Given the description of an element on the screen output the (x, y) to click on. 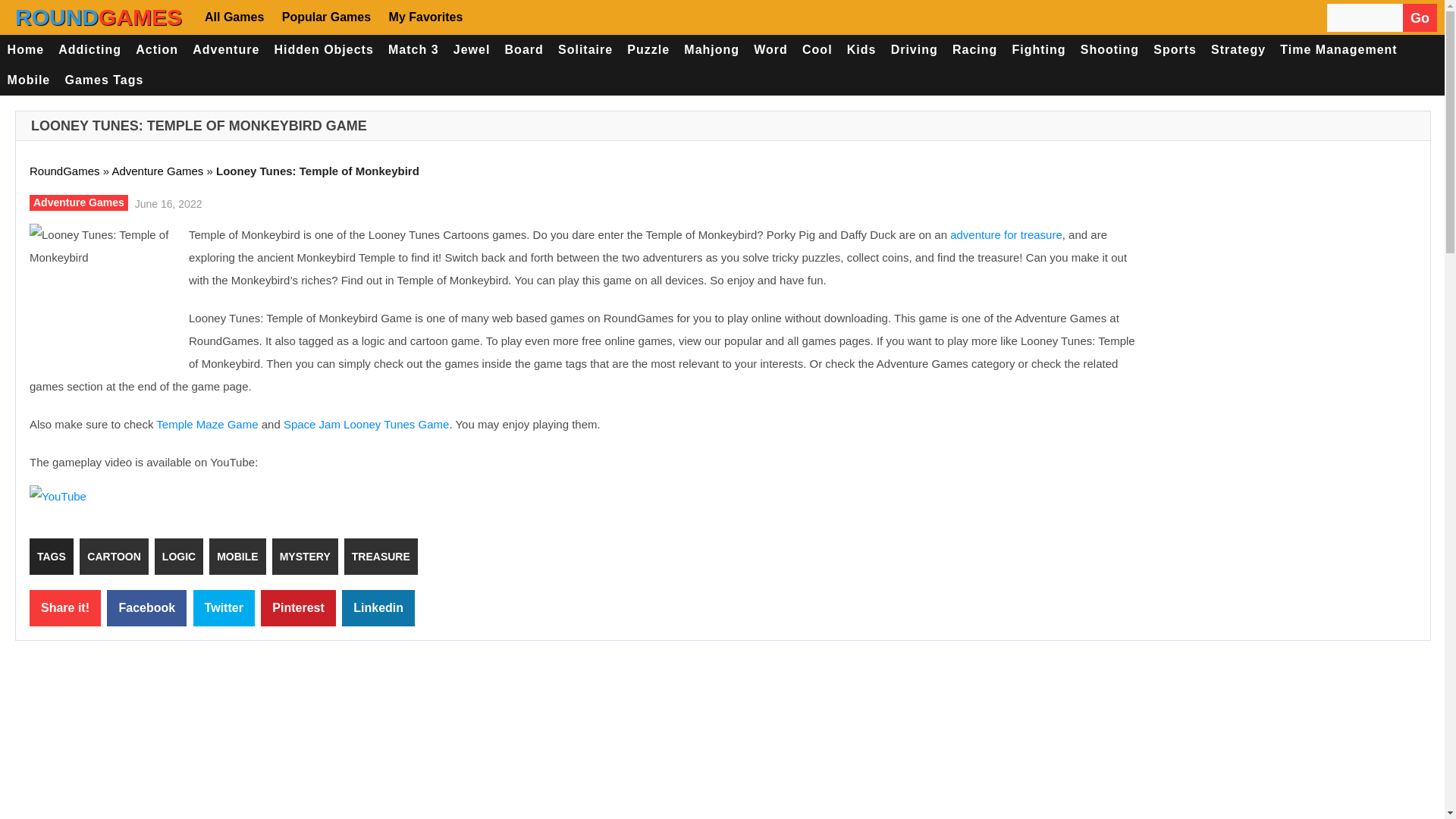
All Games (237, 16)
Play Free Online Games No Downloads at RoundGames (98, 17)
Addicting (89, 50)
12:39 pm (166, 202)
ROUNDGAMES (98, 17)
Follow us on Facebook (492, 17)
Go (1420, 17)
Action (157, 50)
Our YouTube Channel (583, 17)
Popular Games (324, 16)
